Given the description of an element on the screen output the (x, y) to click on. 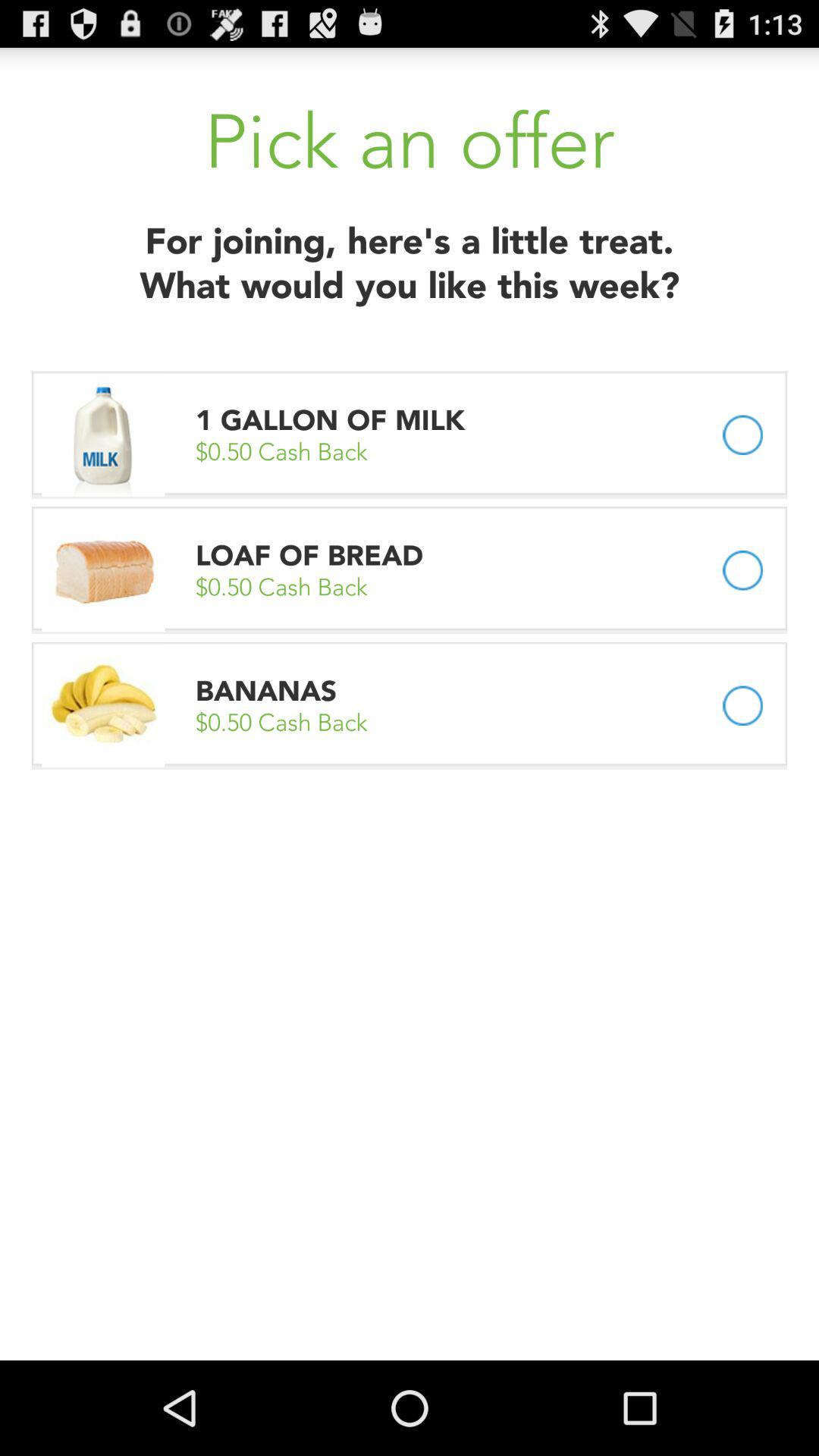
turn off the app above the 0 50 cash (265, 690)
